Given the description of an element on the screen output the (x, y) to click on. 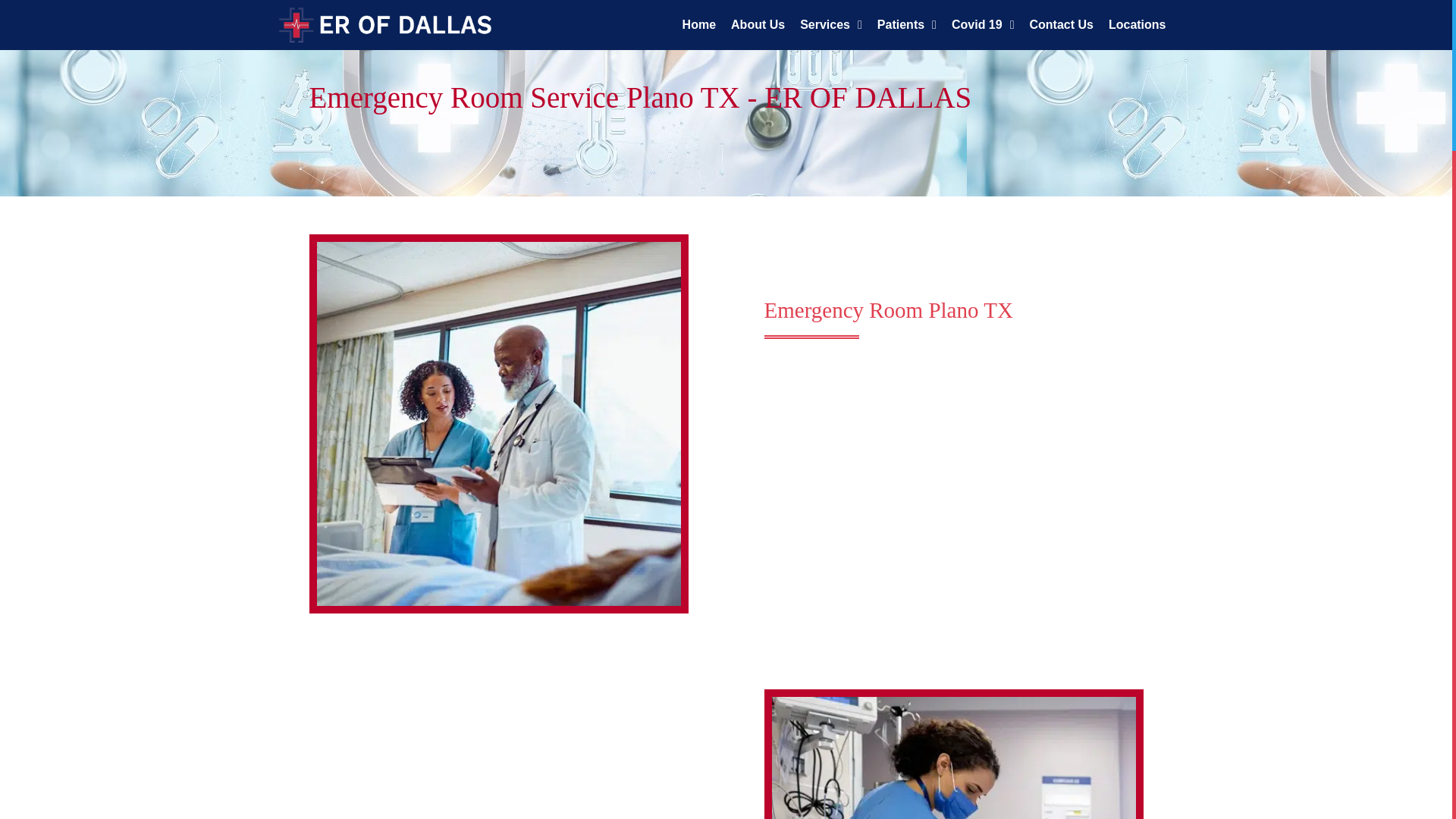
Home (699, 24)
Patients (906, 24)
Contact Us (1061, 24)
About Us (757, 24)
Services (830, 24)
Covid 19 (982, 24)
Locations (1136, 24)
